Given the description of an element on the screen output the (x, y) to click on. 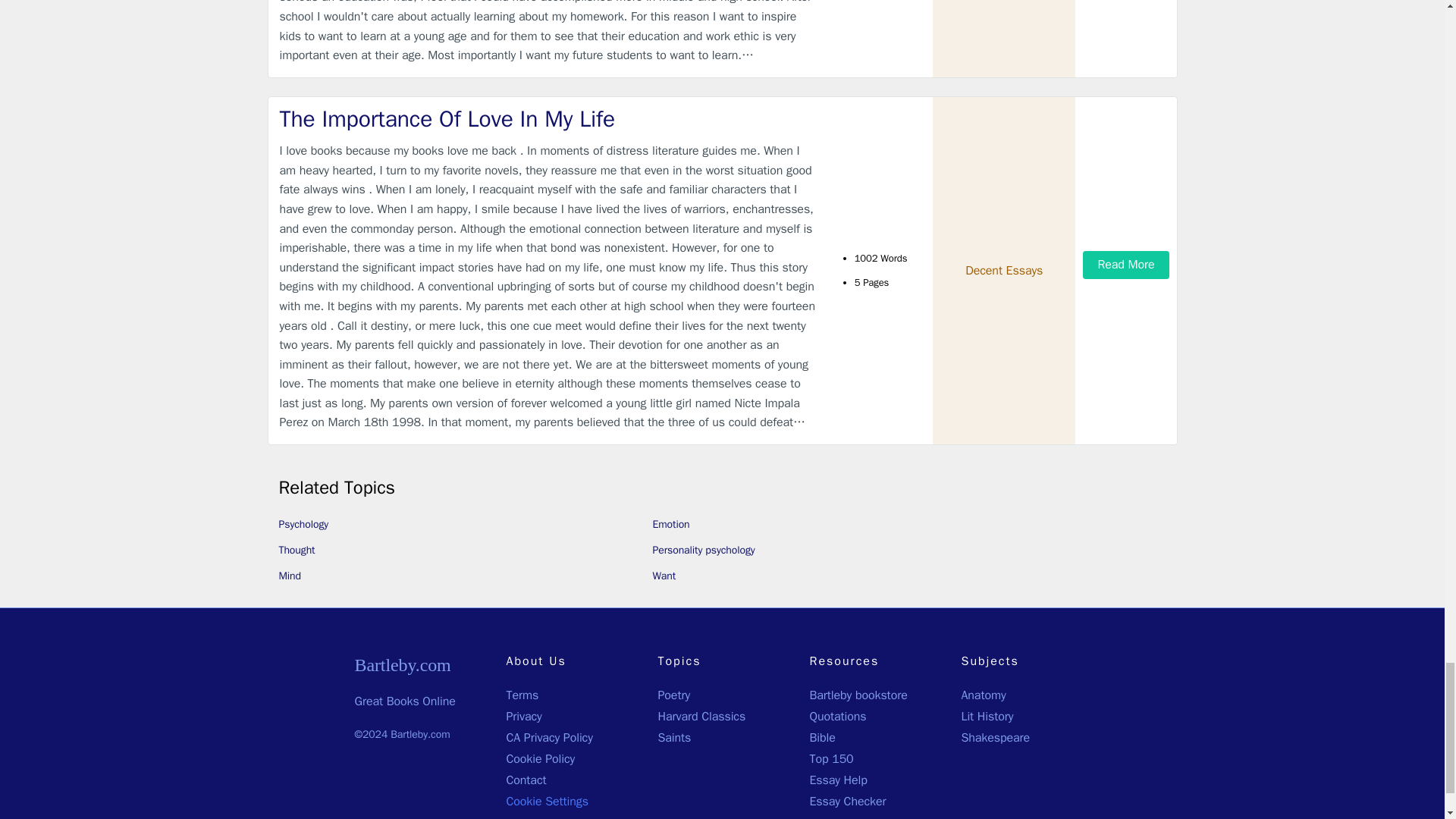
Personality psychology (703, 549)
Mind (290, 575)
Psychology (304, 523)
Want (663, 575)
Emotion (670, 523)
Thought (297, 549)
